Given the description of an element on the screen output the (x, y) to click on. 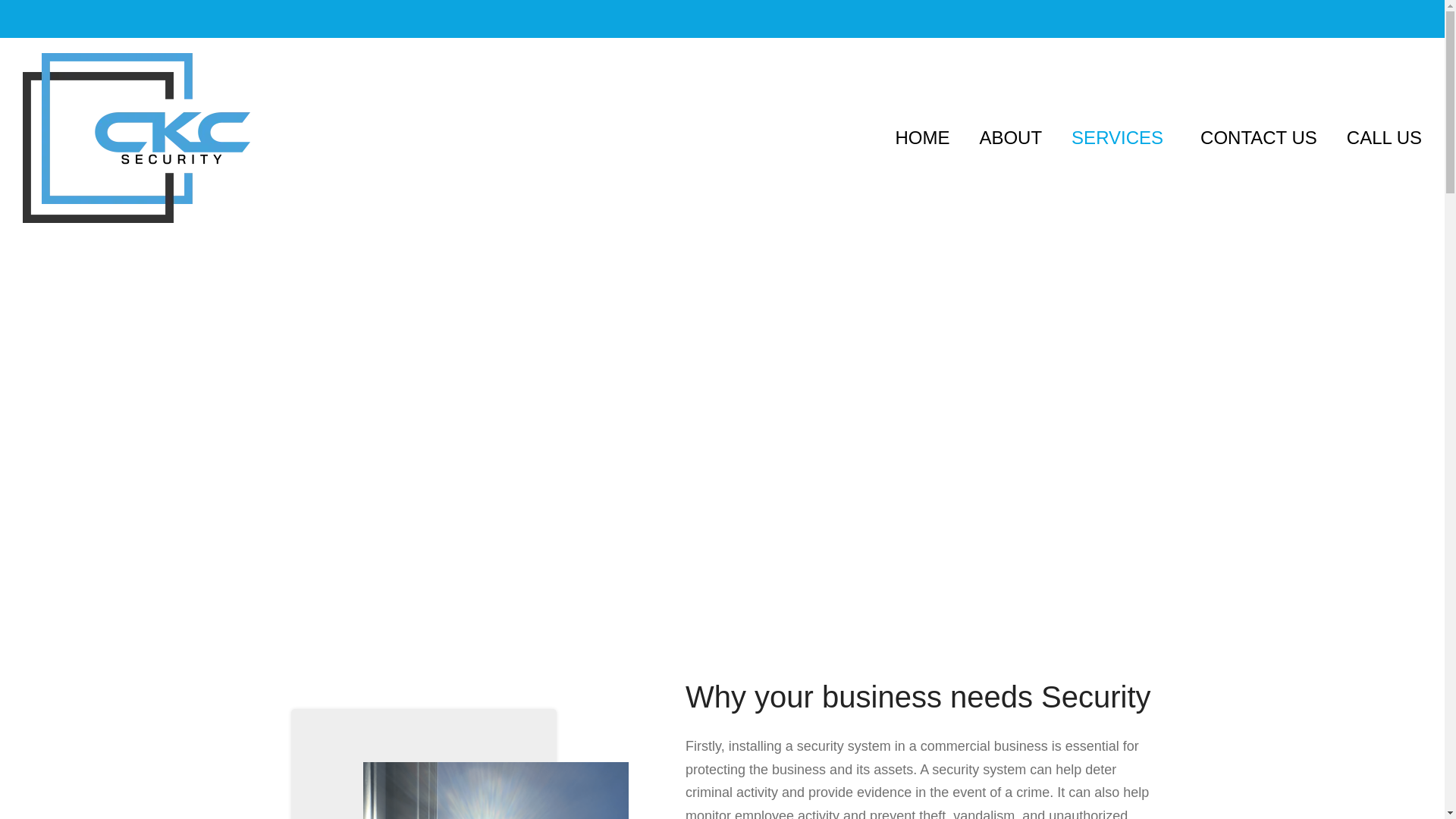
CALL US (1384, 137)
ABOUT (1010, 137)
HOME (922, 137)
SERVICES (1120, 137)
CONTACT US (1258, 137)
